Given the description of an element on the screen output the (x, y) to click on. 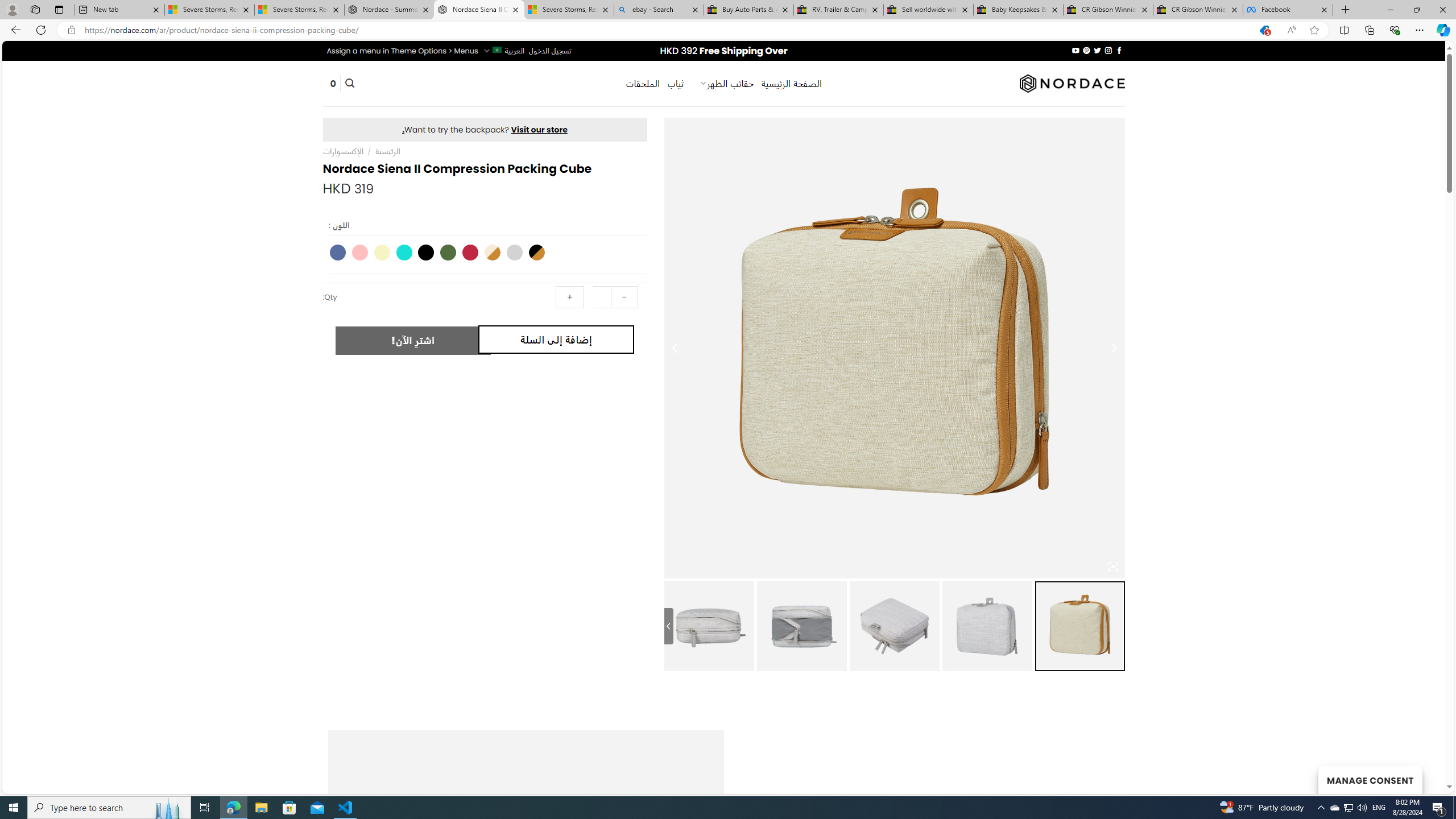
Follow on Twitter (1096, 50)
Visit our store. (484, 129)
RV, Trailer & Camper Steps & Ladders for sale | eBay (838, 9)
Facebook (1287, 9)
Nordace (1072, 83)
Close tab (1324, 9)
Address and search bar (664, 29)
Baby Keepsakes & Announcements for sale | eBay (1018, 9)
Nordace (1072, 83)
Close (1442, 9)
- (623, 296)
Follow on YouTube (1074, 50)
